Given the description of an element on the screen output the (x, y) to click on. 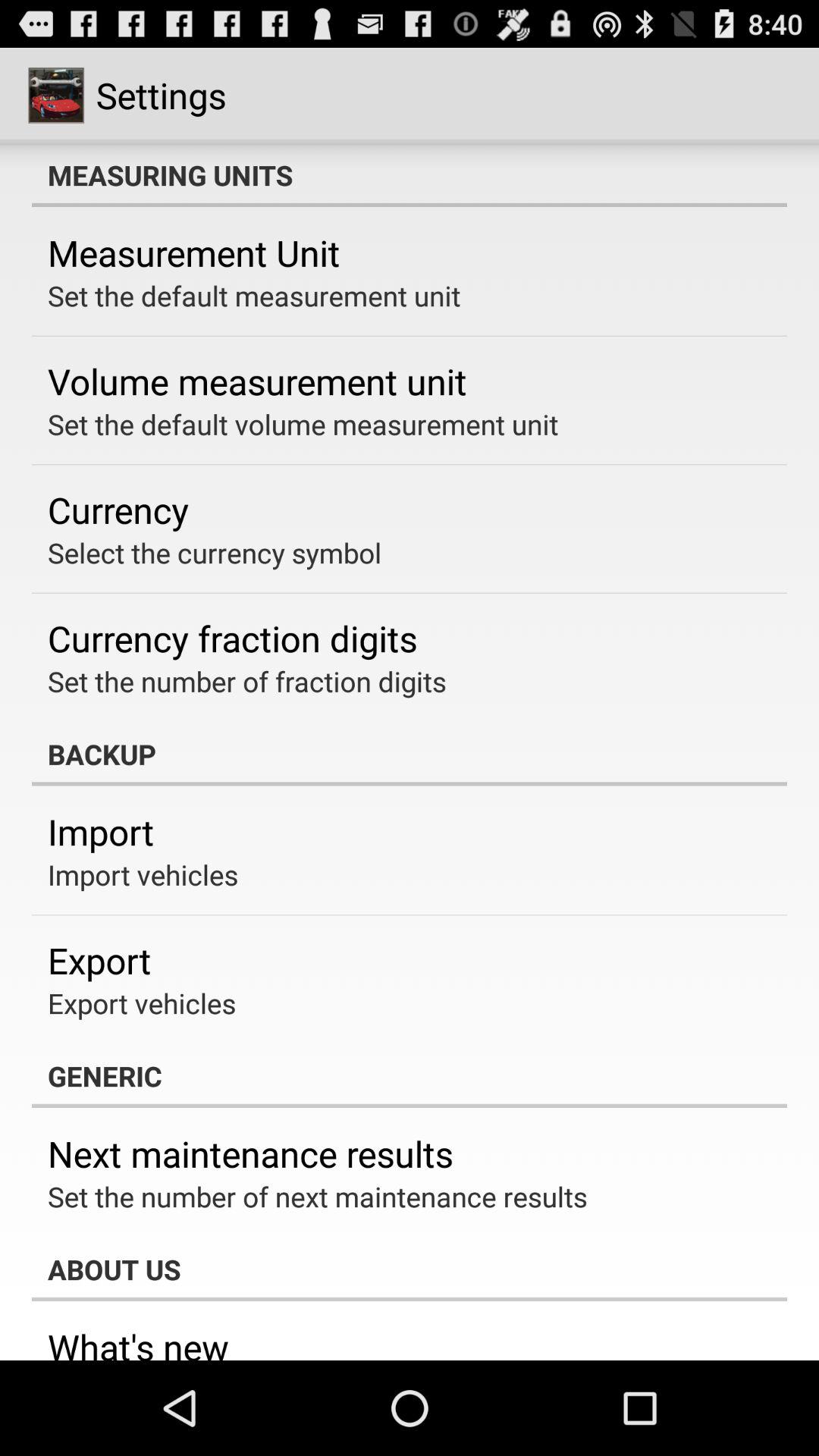
click the export vehicles icon (141, 1003)
